Given the description of an element on the screen output the (x, y) to click on. 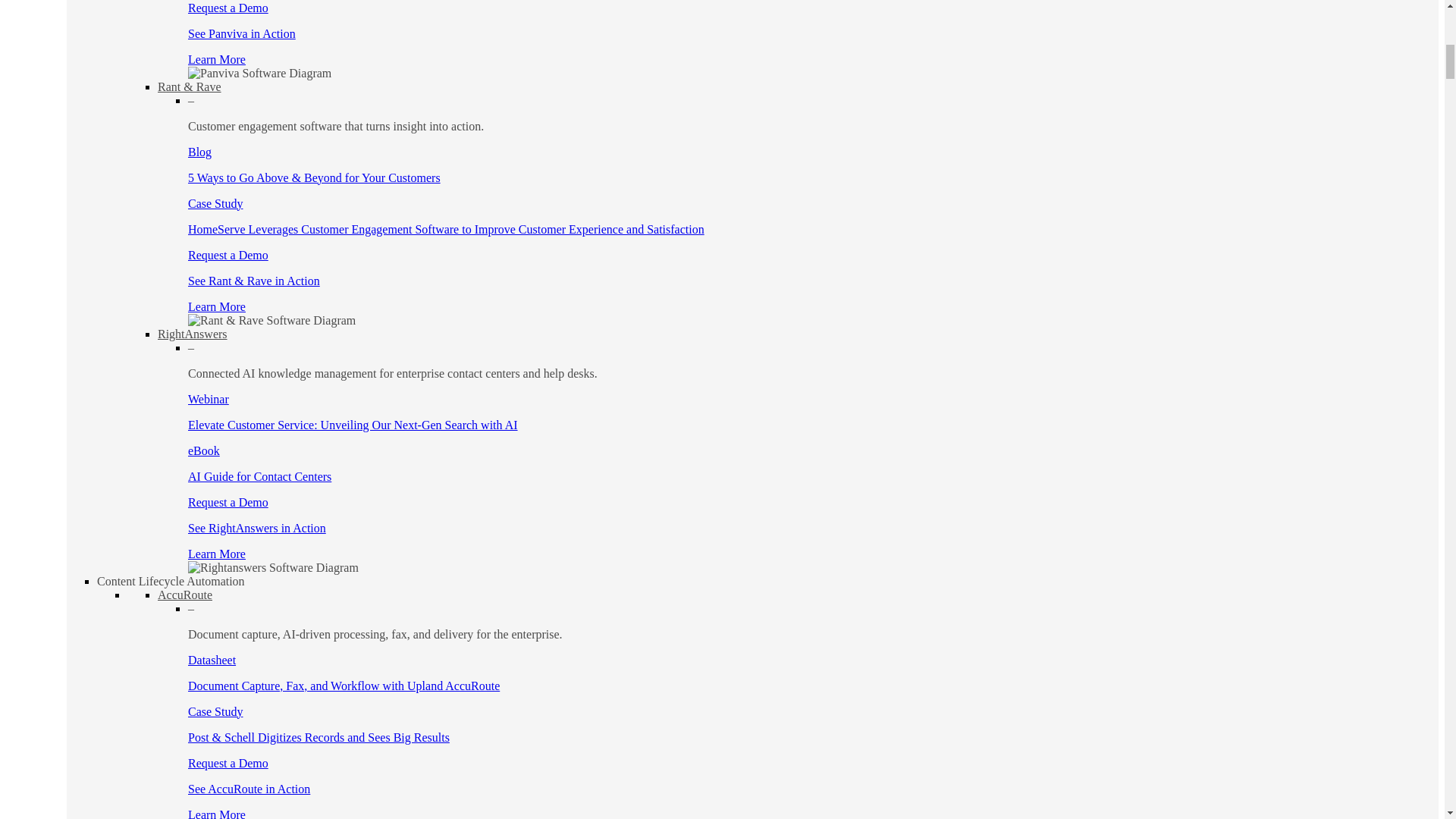
Learn More (216, 553)
Learn More (216, 813)
RightAnswers (192, 333)
Learn More (216, 306)
AccuRoute (184, 594)
Learn More (216, 59)
